Given the description of an element on the screen output the (x, y) to click on. 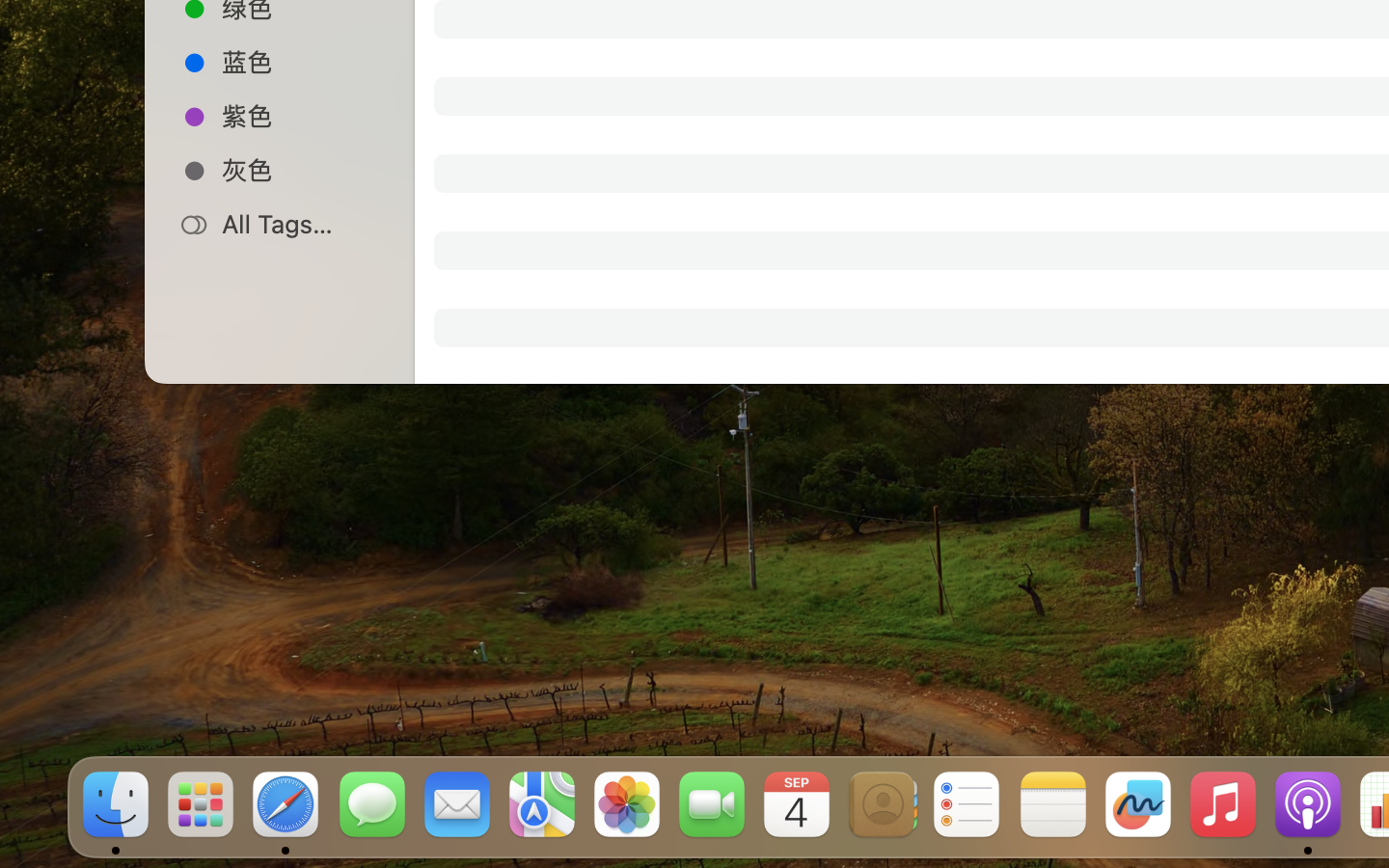
蓝色 Element type: AXStaticText (299, 61)
紫色 Element type: AXStaticText (299, 115)
灰色 Element type: AXStaticText (299, 169)
All Tags… Element type: AXStaticText (299, 223)
